Given the description of an element on the screen output the (x, y) to click on. 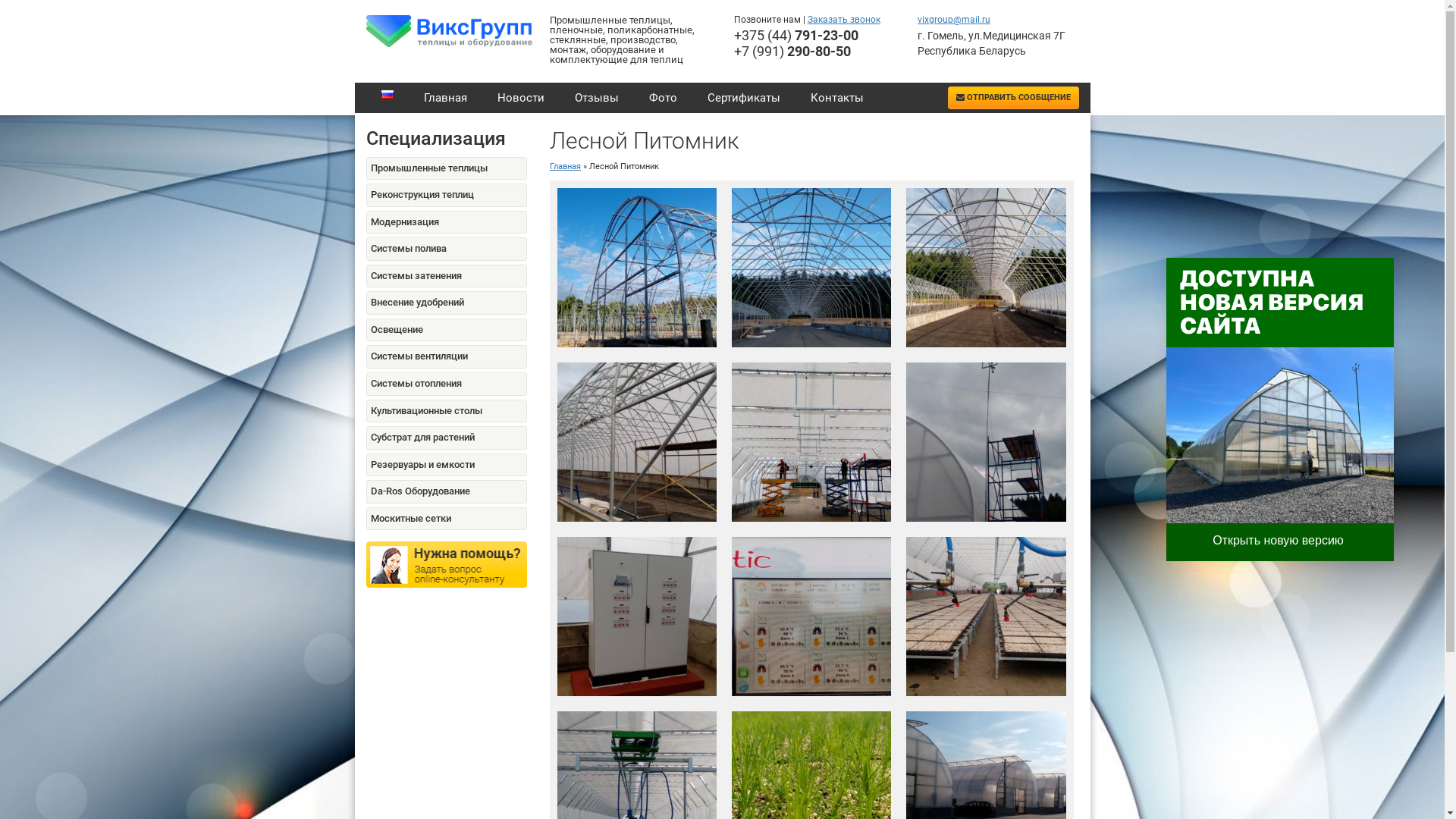
+375 (44) 791-23-00 Element type: text (796, 35)
+7 (991) 290-80-50 Element type: text (792, 51)
vixgroup@mail.ru Element type: text (953, 19)
